Given the description of an element on the screen output the (x, y) to click on. 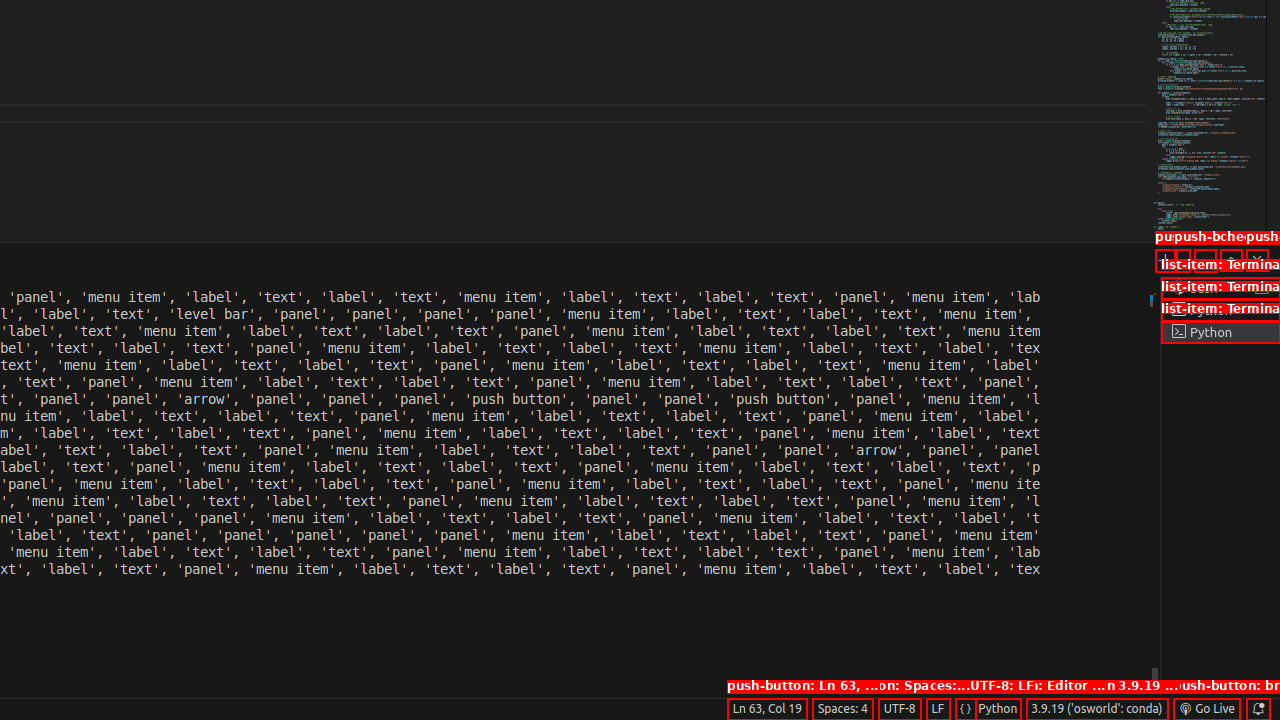
3.9.19 ('osworld': conda), ~/anaconda3/envs/osworld/bin/python Element type: push-button (1097, 709)
Terminal 5 Python Element type: list-item (1220, 332)
Ln 63, Col 19 Element type: push-button (767, 709)
Spaces: 4 Element type: push-button (842, 709)
Notifications Element type: push-button (1258, 709)
